Given the description of an element on the screen output the (x, y) to click on. 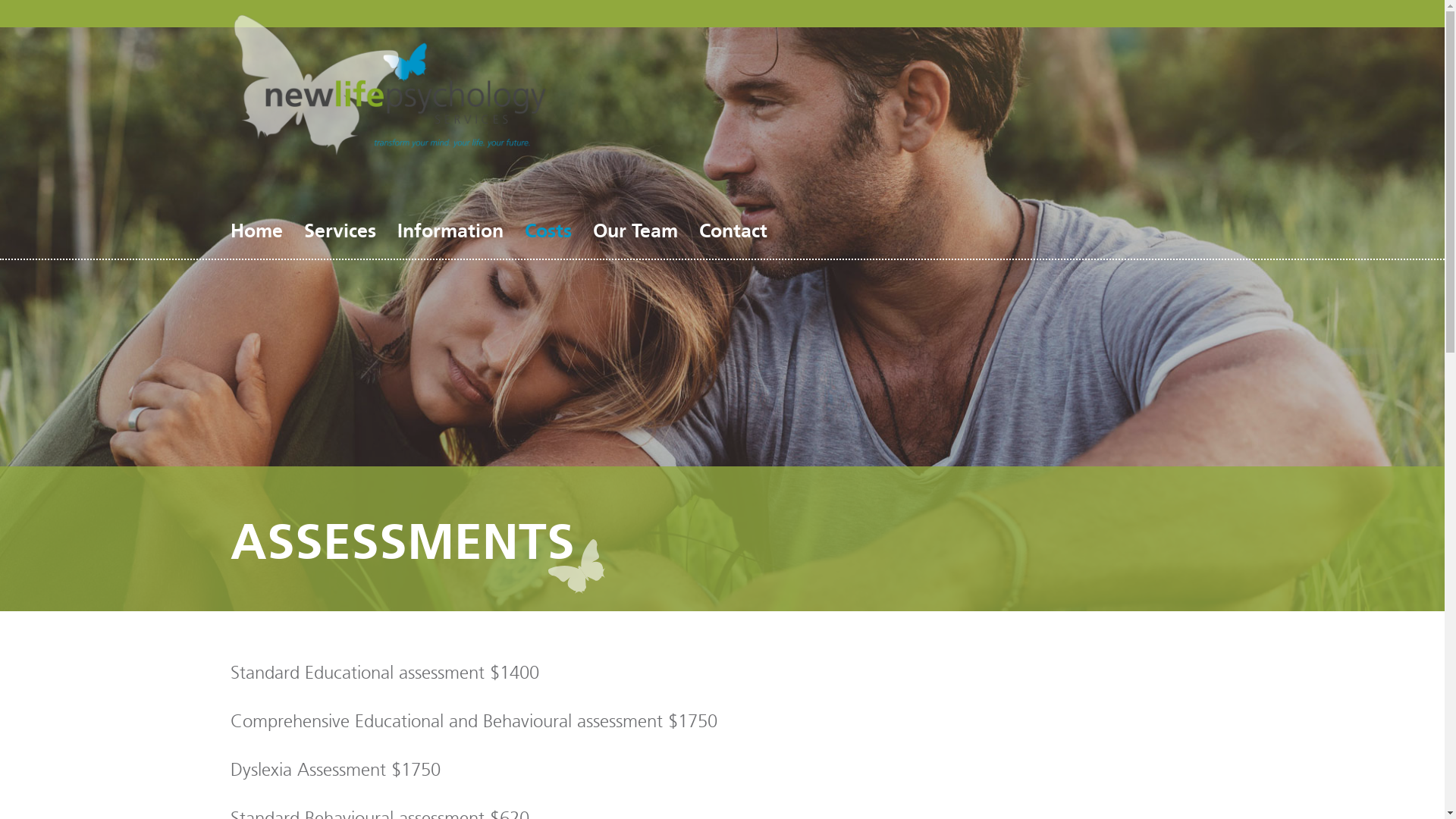
Our Team Element type: text (635, 230)
Home Element type: text (256, 230)
Costs Element type: text (547, 230)
Information Element type: text (450, 230)
Services Element type: text (339, 230)
Contact Element type: text (733, 230)
